Given the description of an element on the screen output the (x, y) to click on. 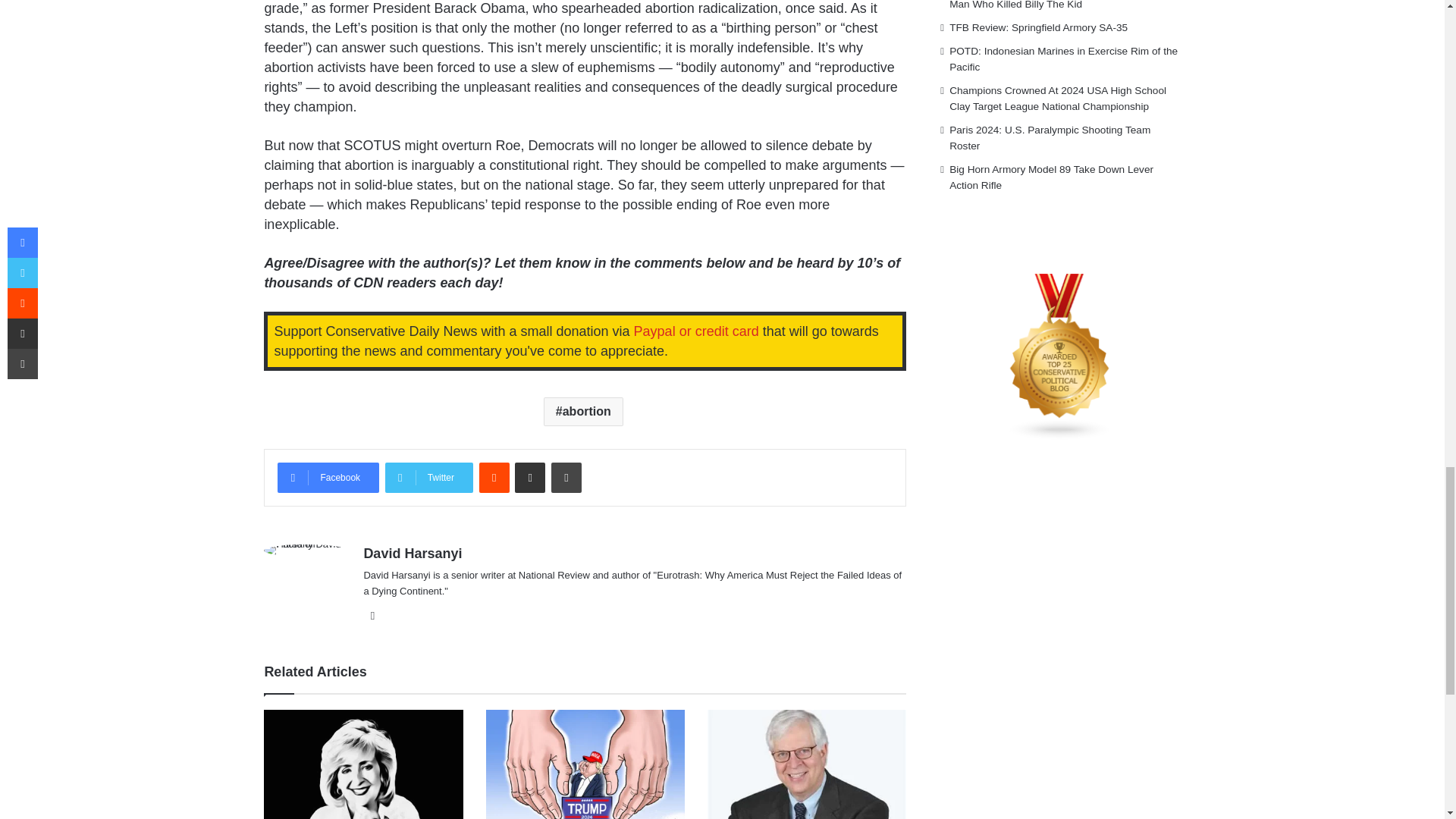
Reddit (494, 477)
Facebook (328, 477)
Twitter (429, 477)
